Given the description of an element on the screen output the (x, y) to click on. 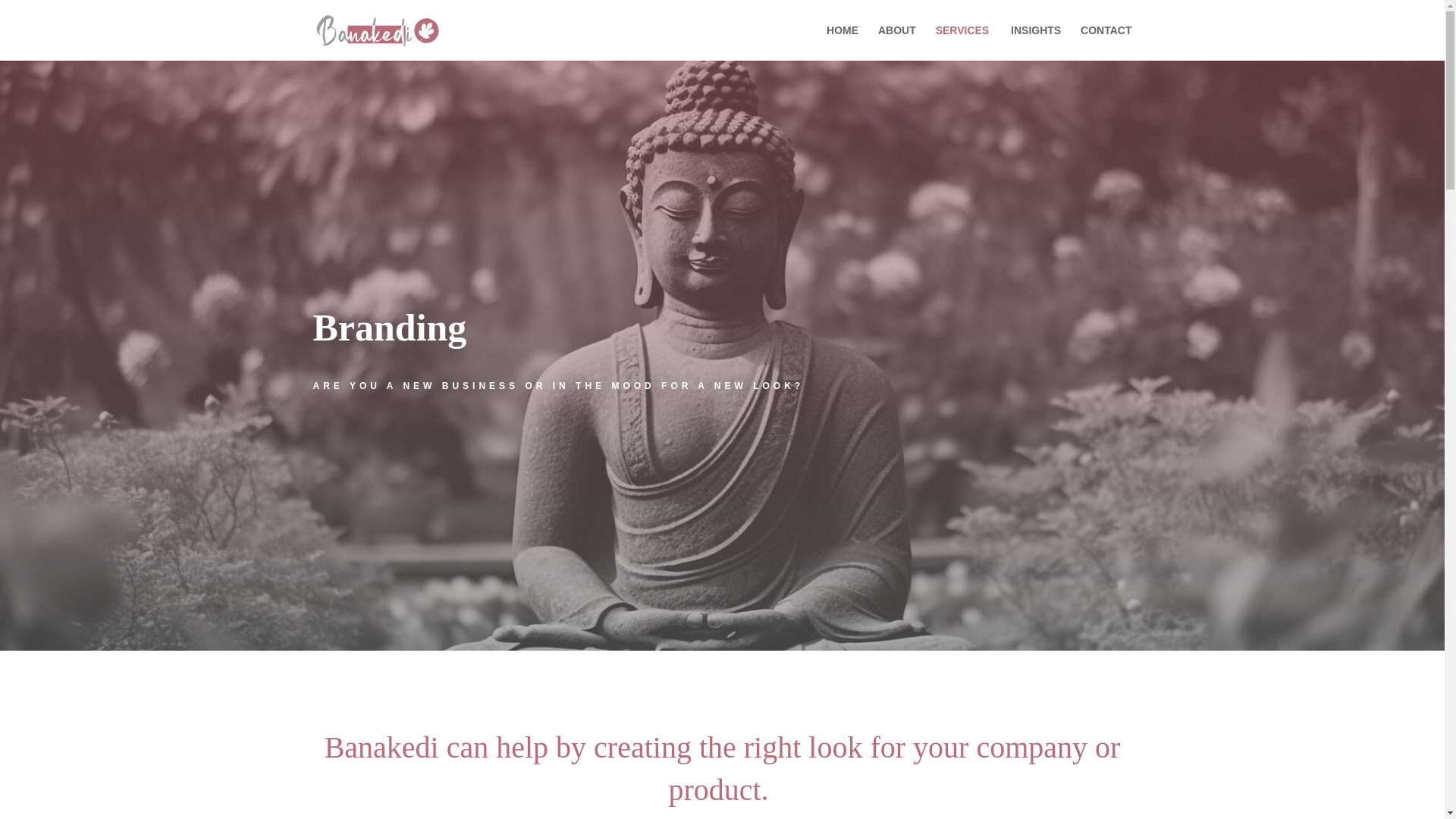
INSIGHTS (1035, 42)
CONTACT (1105, 42)
ABOUT (896, 42)
HOME (843, 42)
SERVICES (970, 42)
